Given the description of an element on the screen output the (x, y) to click on. 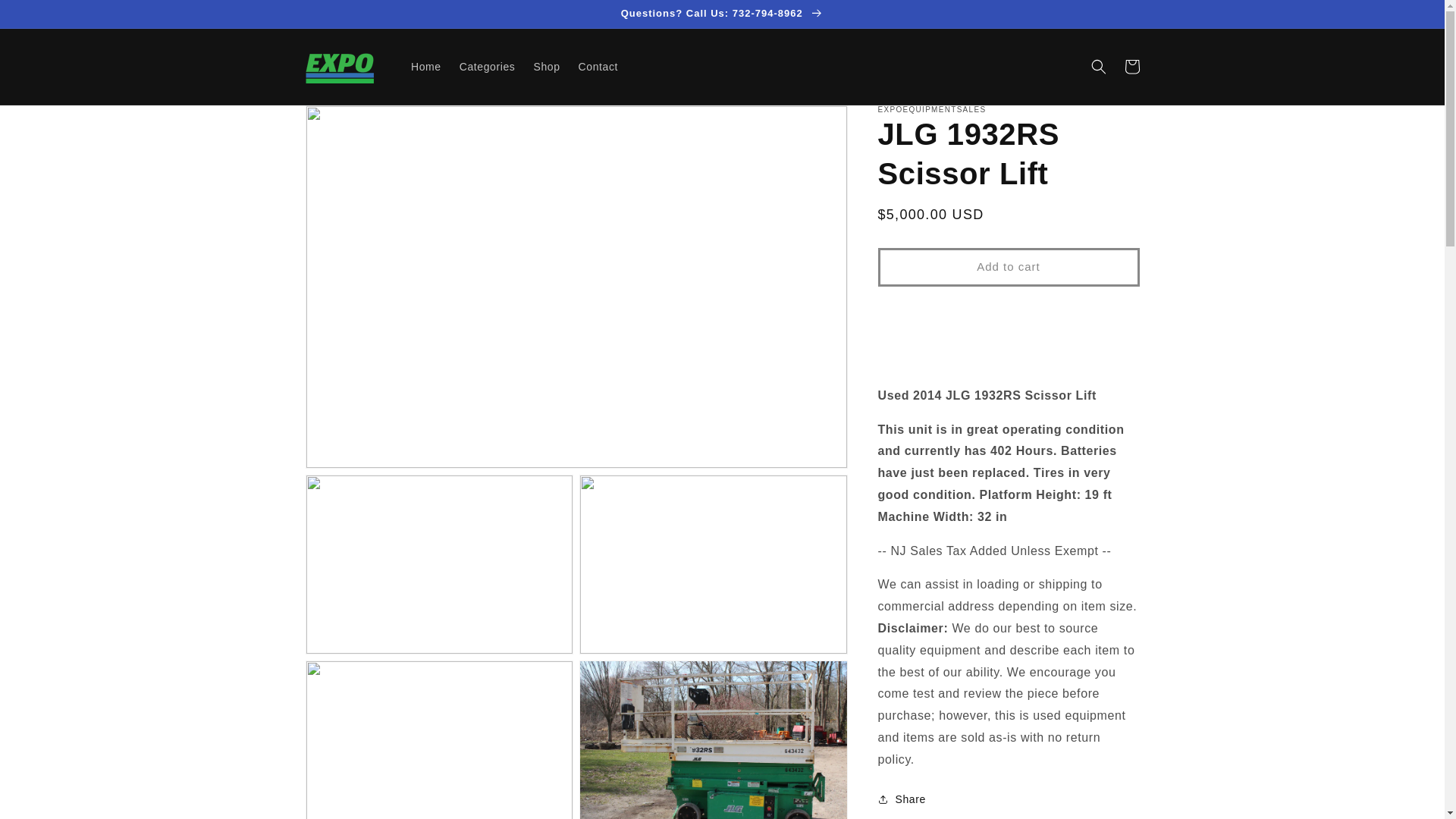
Shop (546, 66)
Skip to product information (352, 123)
Home (425, 66)
Contact (598, 66)
Categories (486, 66)
Cart (1131, 66)
Skip to content (47, 18)
Add to cart (1008, 267)
